Given the description of an element on the screen output the (x, y) to click on. 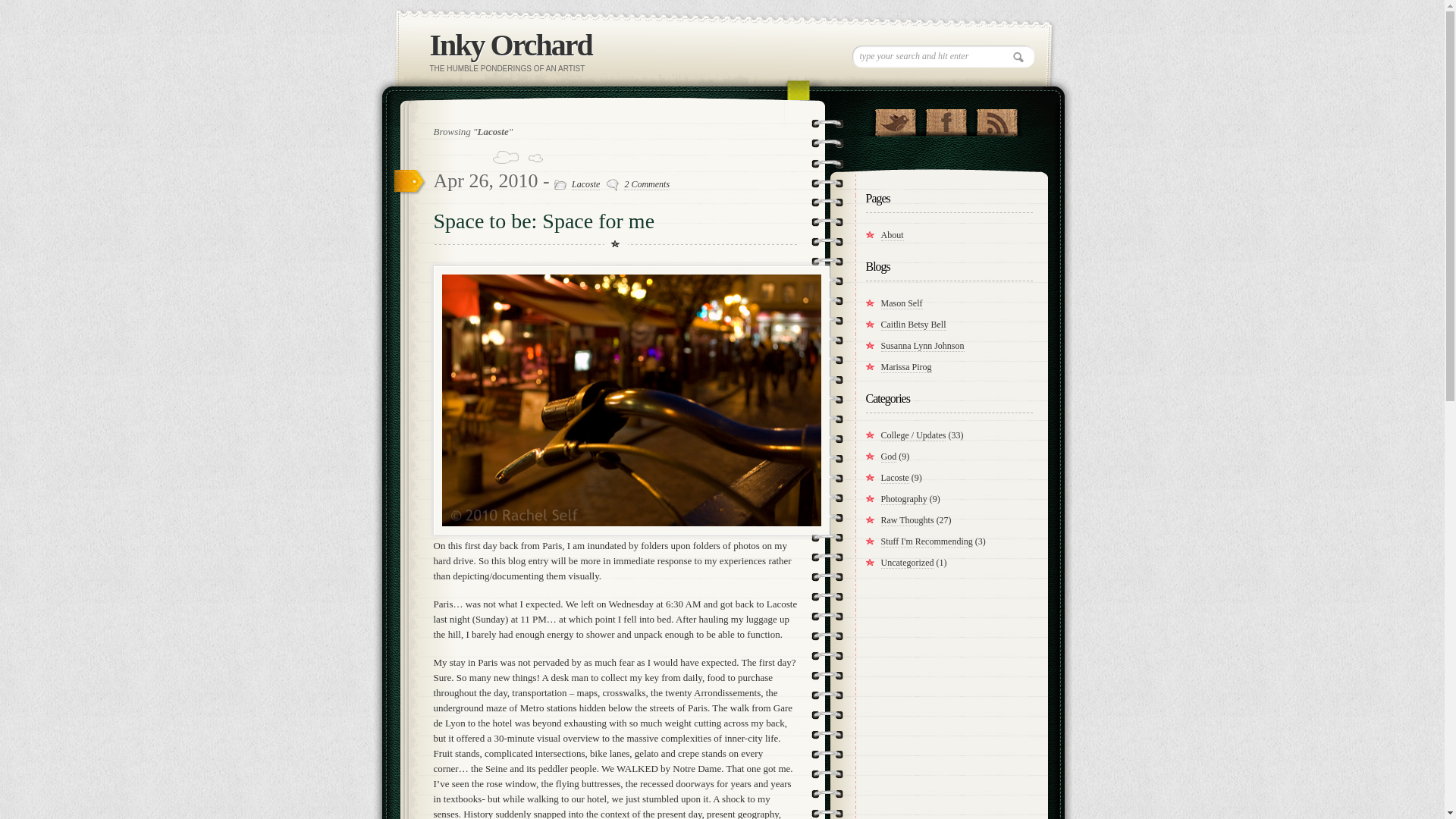
"Join Us on Facebook! (945, 118)
type your search and hit enter (942, 56)
Arrondissements (727, 693)
RSS (996, 118)
Susanna Lynn Johnson (921, 346)
View all posts filed under Raw Thoughts (907, 520)
Uncategorized (907, 562)
blog4-image (631, 400)
Space to be: Space for me (544, 220)
Marissa Pirog (905, 367)
